Given the description of an element on the screen output the (x, y) to click on. 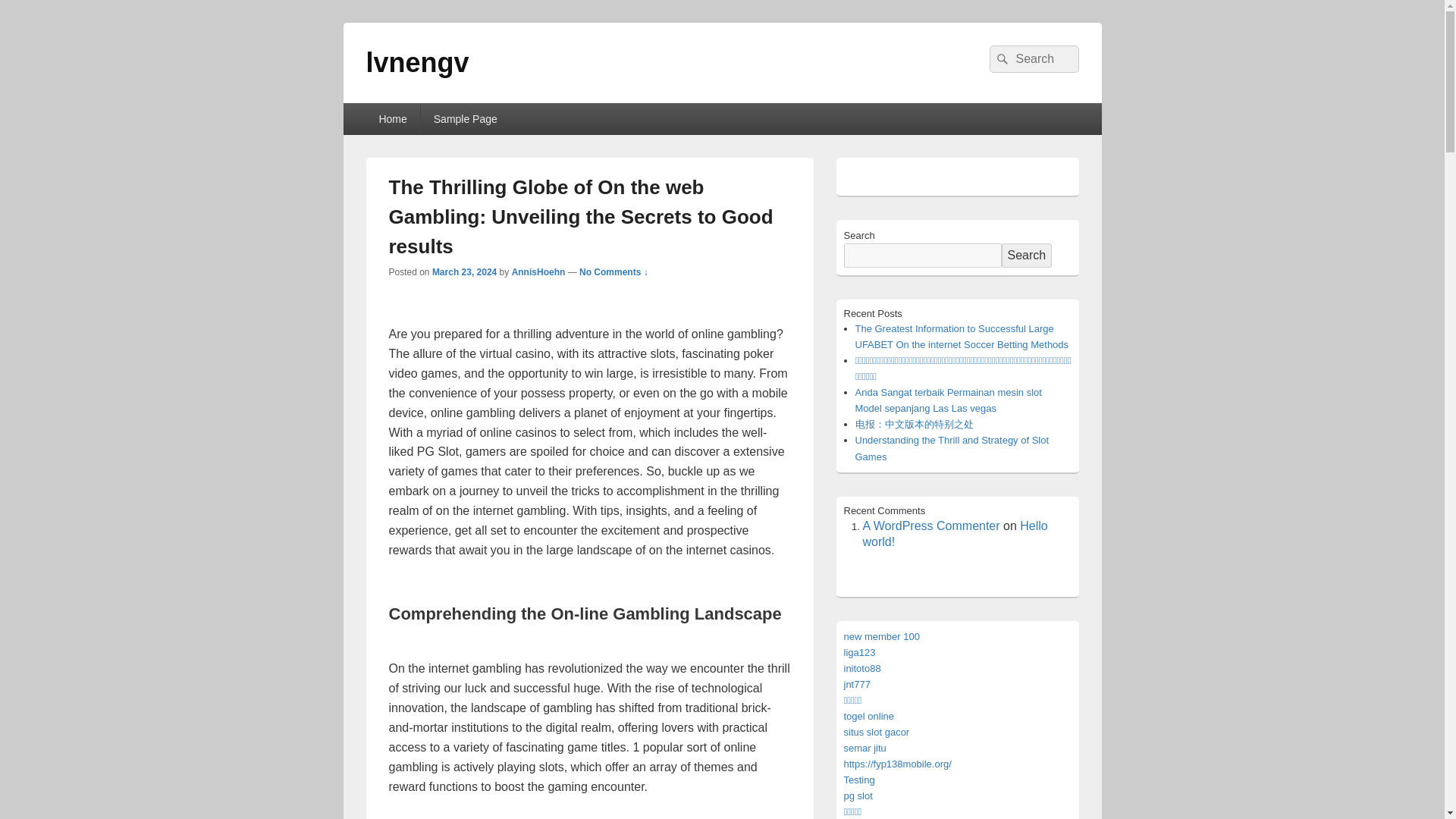
initoto88 (861, 668)
pg slot (857, 795)
Home (392, 119)
liga123 (859, 652)
Sample Page (465, 119)
semar jitu (864, 747)
A WordPress Commenter (931, 525)
togel online (868, 715)
jnt777 (856, 684)
Understanding the Thrill and Strategy of Slot Games (952, 447)
Hello world! (955, 533)
new member 100 (880, 636)
March 23, 2024 (464, 271)
situs slot gacor (875, 731)
